Given the description of an element on the screen output the (x, y) to click on. 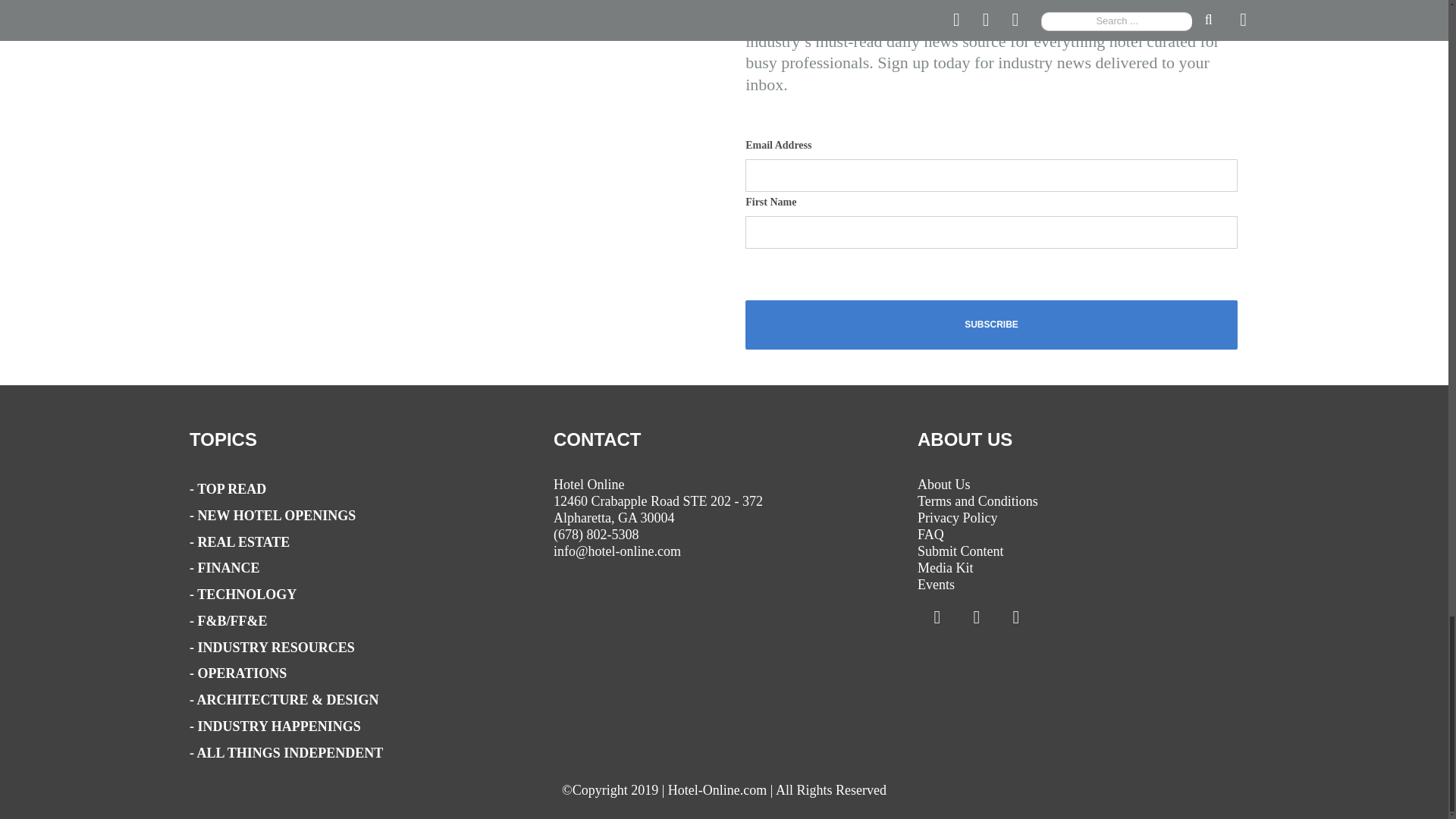
SUbscribe (991, 324)
